Given the description of an element on the screen output the (x, y) to click on. 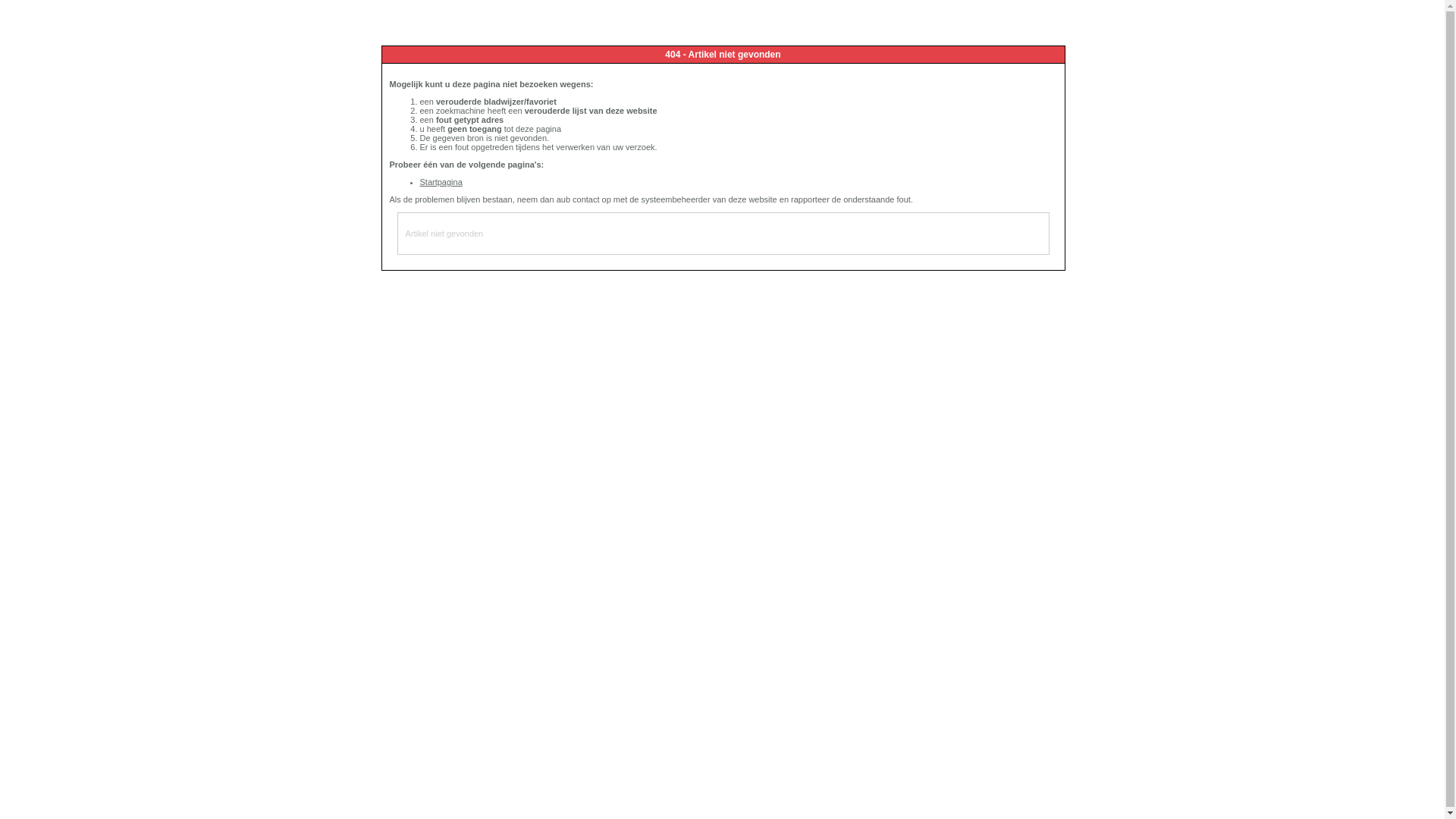
Startpagina Element type: text (441, 181)
